Given the description of an element on the screen output the (x, y) to click on. 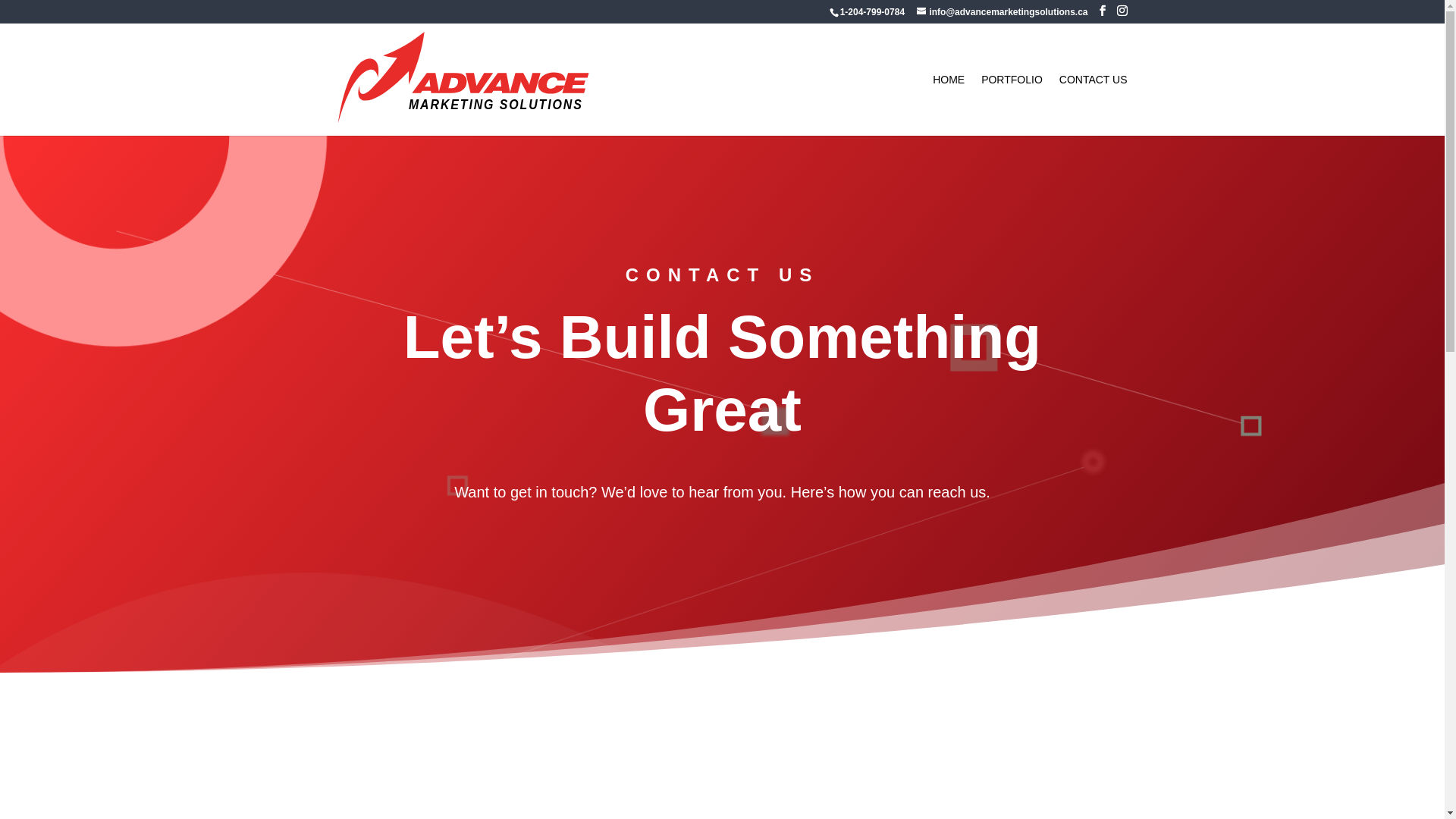
PORTFOLIO Element type: text (1011, 104)
HOME Element type: text (948, 104)
CONTACT US Element type: text (1093, 104)
info@advancemarketingsolutions.ca Element type: text (1001, 11)
